Given the description of an element on the screen output the (x, y) to click on. 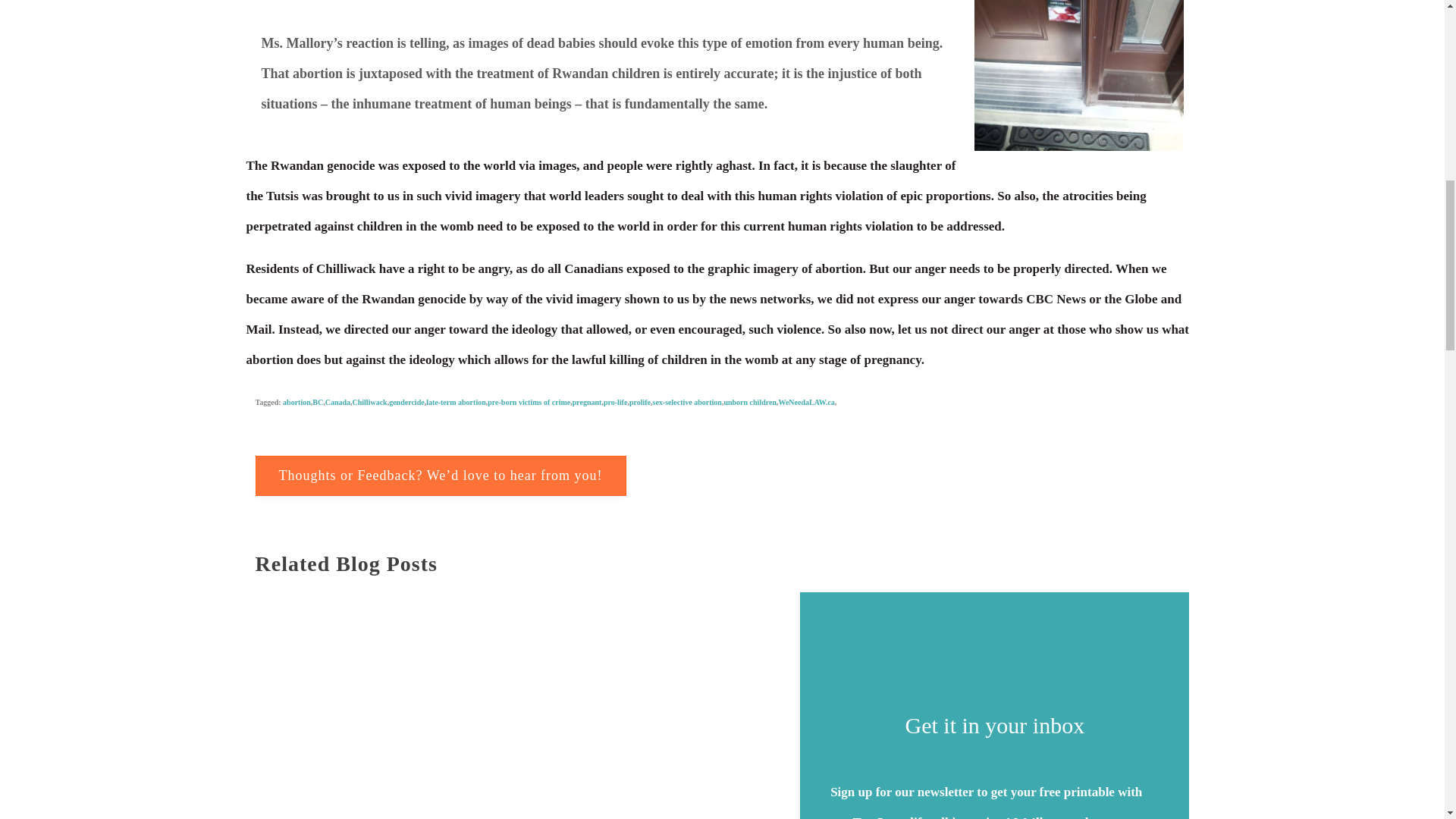
prolife (639, 402)
pro-life (615, 402)
WeNeedaLAW.ca (805, 402)
gendercide (405, 402)
pre-born victims of crime (528, 402)
unborn children (749, 402)
BC (318, 399)
abortion (296, 393)
pregnant (587, 402)
sex-selective abortion (687, 402)
Canada (337, 402)
Chilliwack (369, 402)
late-term abortion (456, 402)
